Given the description of an element on the screen output the (x, y) to click on. 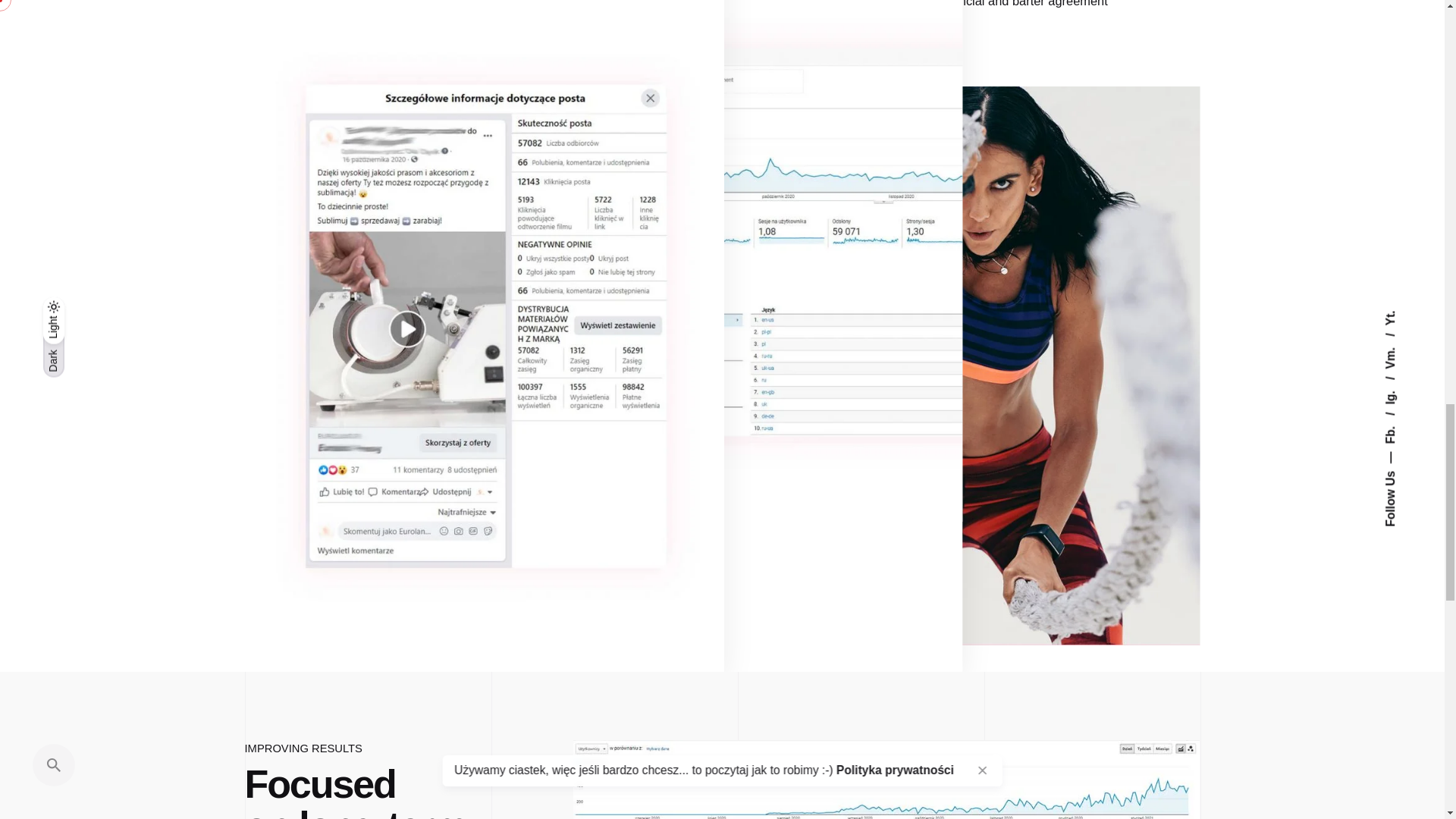
case-reklama-w-internecie (886, 779)
